Given the description of an element on the screen output the (x, y) to click on. 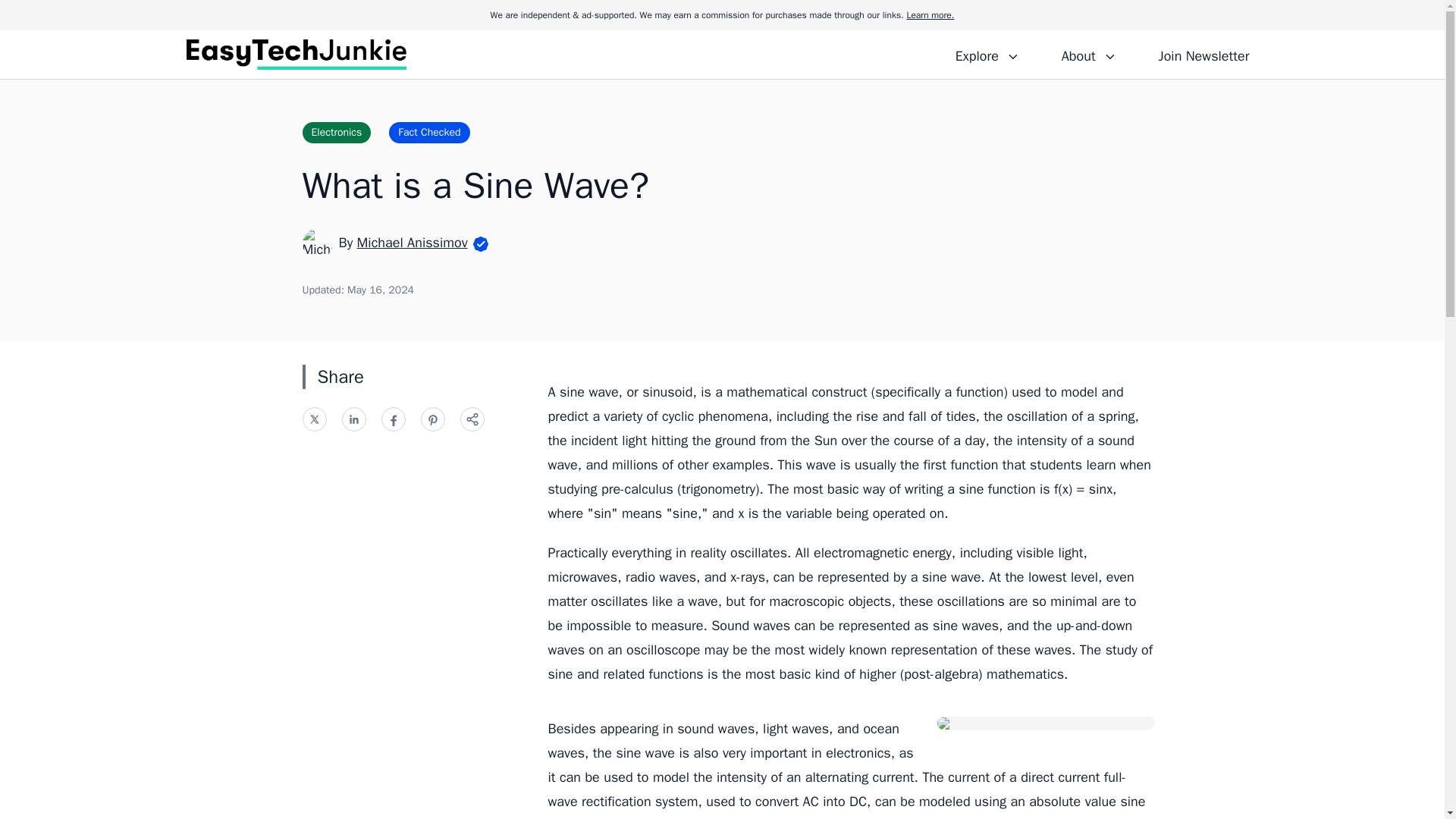
Learn more. (929, 15)
About (1088, 54)
Michael Anissimov (411, 242)
Join Newsletter (1202, 54)
Explore (986, 54)
Fact Checked (428, 132)
Electronics (336, 132)
